Given the description of an element on the screen output the (x, y) to click on. 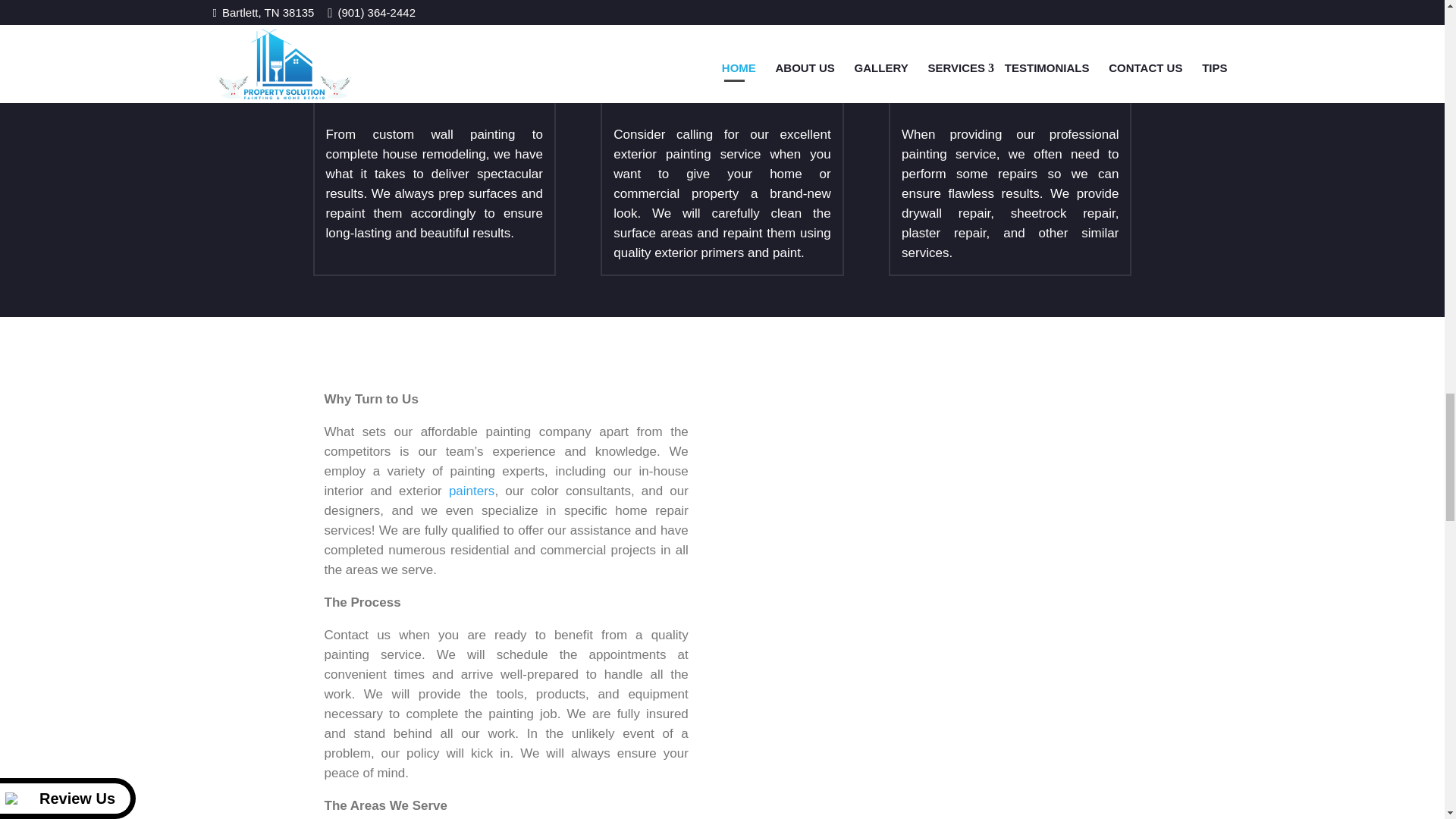
Interior Painting (434, 61)
painters (471, 490)
Exterior Painting (720, 61)
Home Repair Services (1009, 61)
